Given the description of an element on the screen output the (x, y) to click on. 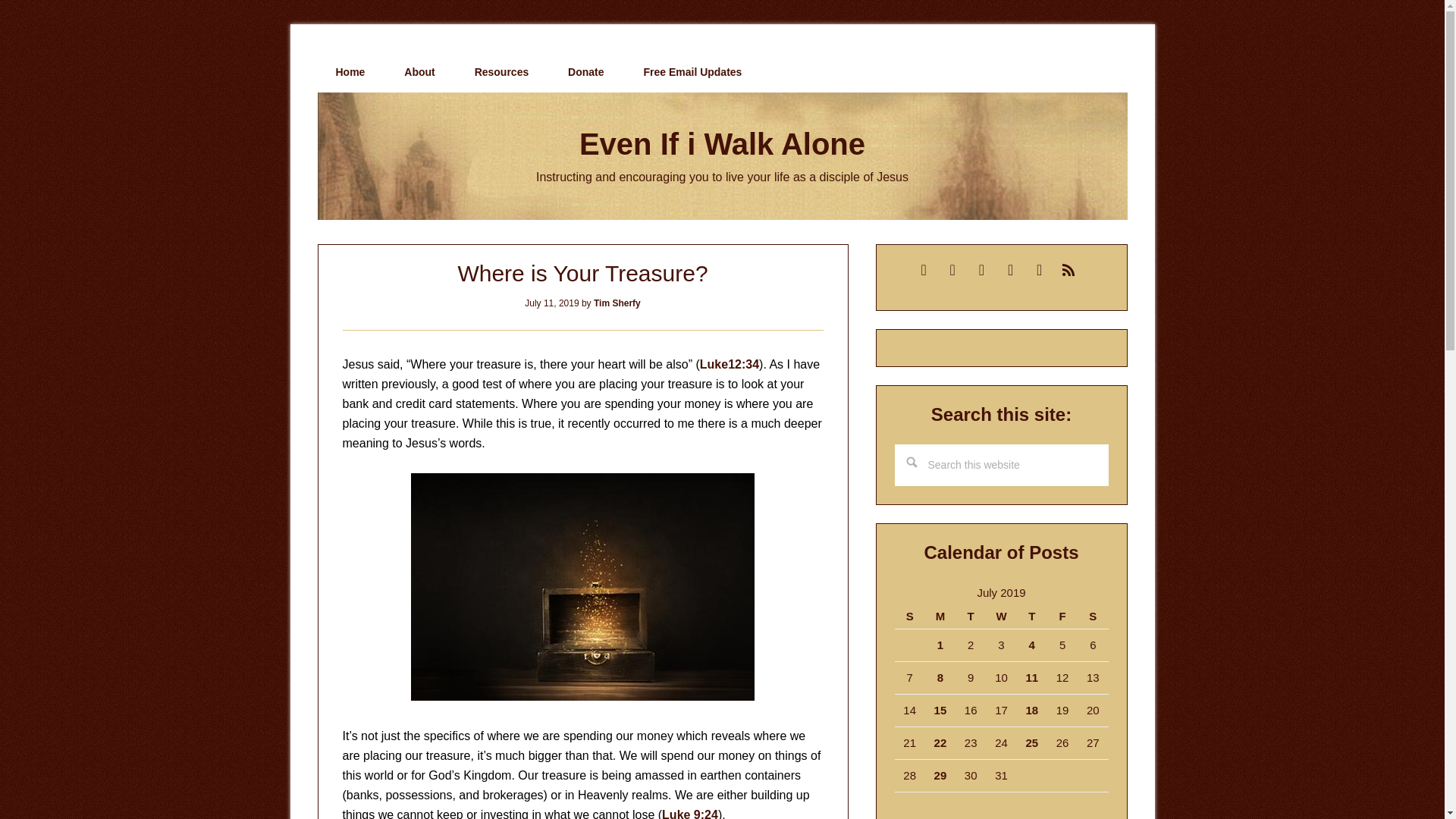
Even If i Walk Alone (721, 143)
Tim Sherfy (617, 303)
Resources (502, 71)
mail (923, 268)
Free Email Updates (692, 71)
Home (349, 71)
Default Label (923, 268)
Luke12:34 (729, 364)
twitter (981, 268)
About (418, 71)
Default Label (952, 268)
Twitter (981, 268)
Donate (585, 71)
Facebook (1010, 268)
